Given the description of an element on the screen output the (x, y) to click on. 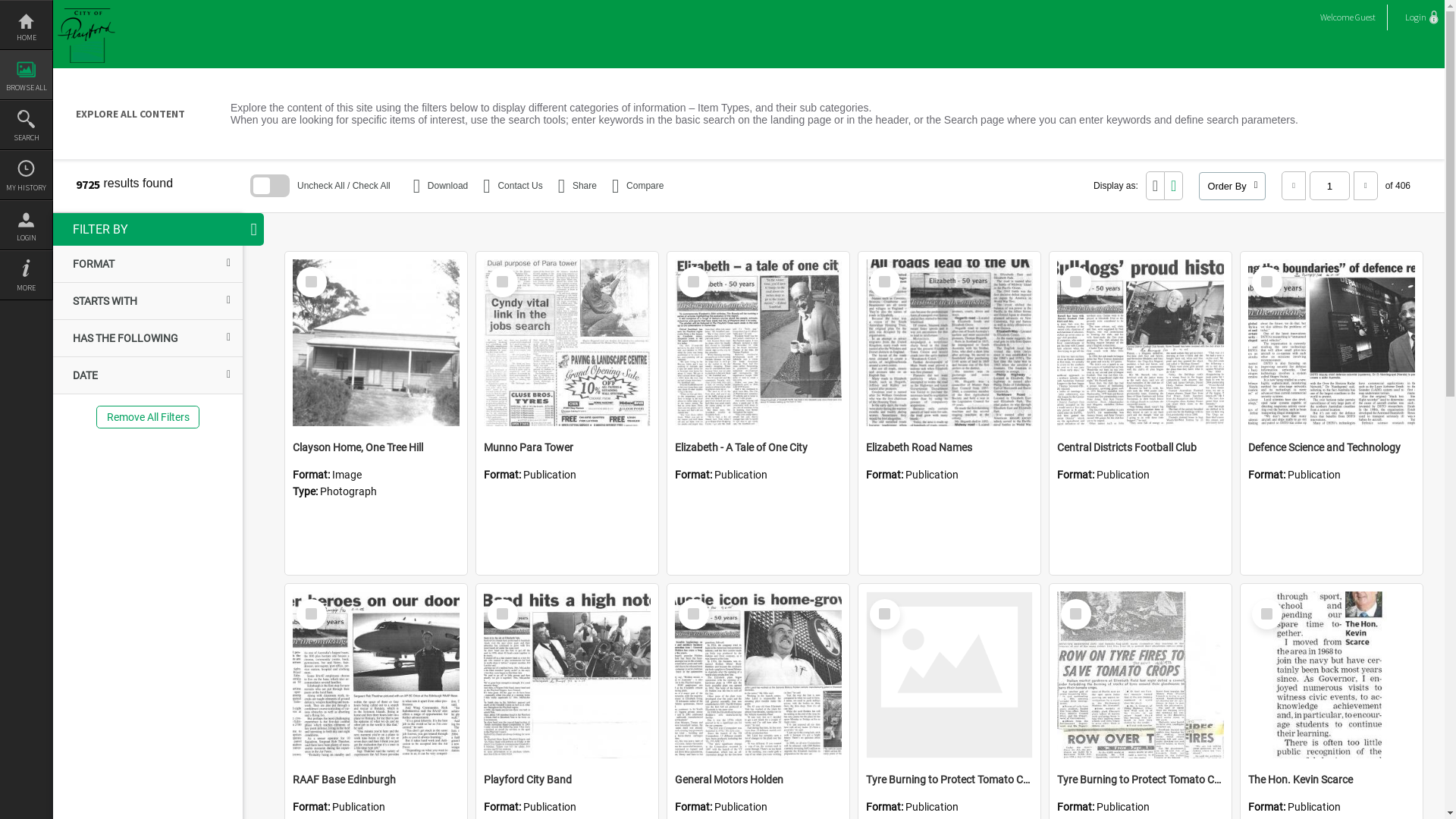
RAAF Base Edinburgh Element type: hover (375, 674)
MORE Element type: text (26, 275)
General Motors Holden Element type: text (757, 779)
Tyre Burning to Protect Tomato Crops Element type: text (1140, 779)
Central Districts Football Club Element type: hover (1140, 342)
Order By Element type: text (1231, 185)
SEARCH Element type: text (26, 124)
Playford City Band Element type: text (566, 779)
Guest Element type: text (1365, 16)
General Motors Holden Element type: hover (757, 674)
The Hon. Kevin Scarce Element type: hover (1331, 674)
The Hon. Kevin Scarce Element type: text (1331, 779)
Login Element type: text (1419, 17)
LOGIN Element type: text (26, 224)
Elizabeth Road Names Element type: hover (949, 342)
Central Districts Football Club Element type: text (1140, 447)
BROWSE ALL Element type: text (26, 74)
Tyre Burning to Protect Tomato Crops Element type: hover (1140, 674)
HOME Element type: text (26, 24)
Elizabeth - A Tale of One City Element type: hover (757, 342)
Tyre Burning to Protect Tomato Crops Element type: hover (949, 674)
Defence Science and Technology Element type: hover (1331, 342)
Clayson Home, One Tree Hill Element type: hover (375, 342)
Elizabeth - A Tale of One City Element type: text (757, 447)
MY HISTORY Element type: text (26, 174)
Munno Para Tower Element type: text (566, 447)
Playford City Band Element type: hover (566, 674)
Defence Science and Technology Element type: text (1331, 447)
Clayson Home, One Tree Hill Element type: text (375, 447)
Skip to search block Element type: text (52, 185)
Tyre Burning to Protect Tomato Crops Element type: text (949, 779)
Elizabeth Road Names Element type: text (949, 447)
RAAF Base Edinburgh Element type: text (375, 779)
Munno Para Tower Element type: hover (566, 342)
